Given the description of an element on the screen output the (x, y) to click on. 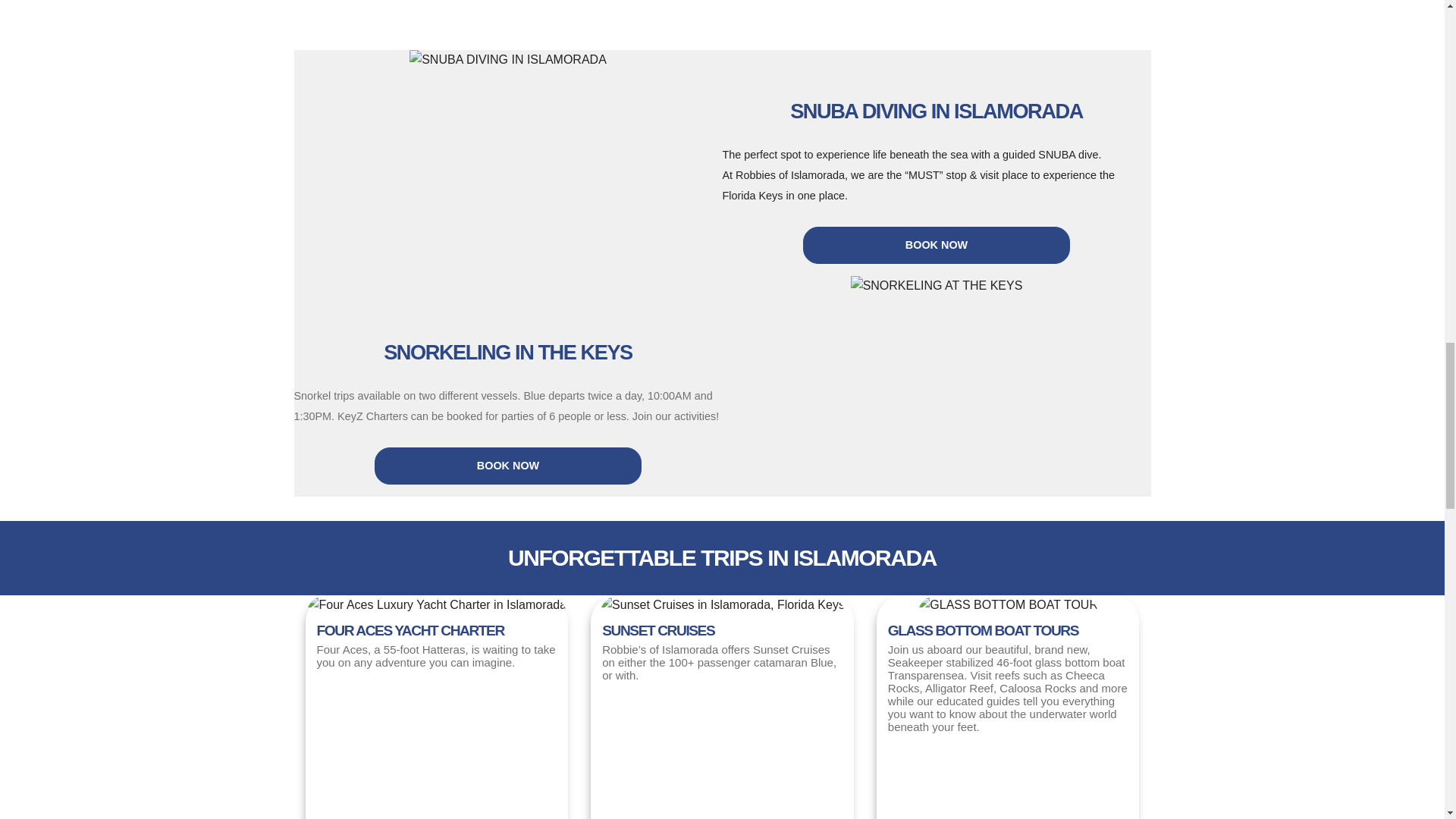
SNUBA DIVING IN ISLAMORADA (508, 59)
BEST-SUNSET-CRUISES-IN-THE-FLORIDA-KEYS (721, 605)
SNORKELING AT THE KEYS (936, 285)
FOUR-ACES-LUXURY-YACHT-CHARTER (435, 605)
